Given the description of an element on the screen output the (x, y) to click on. 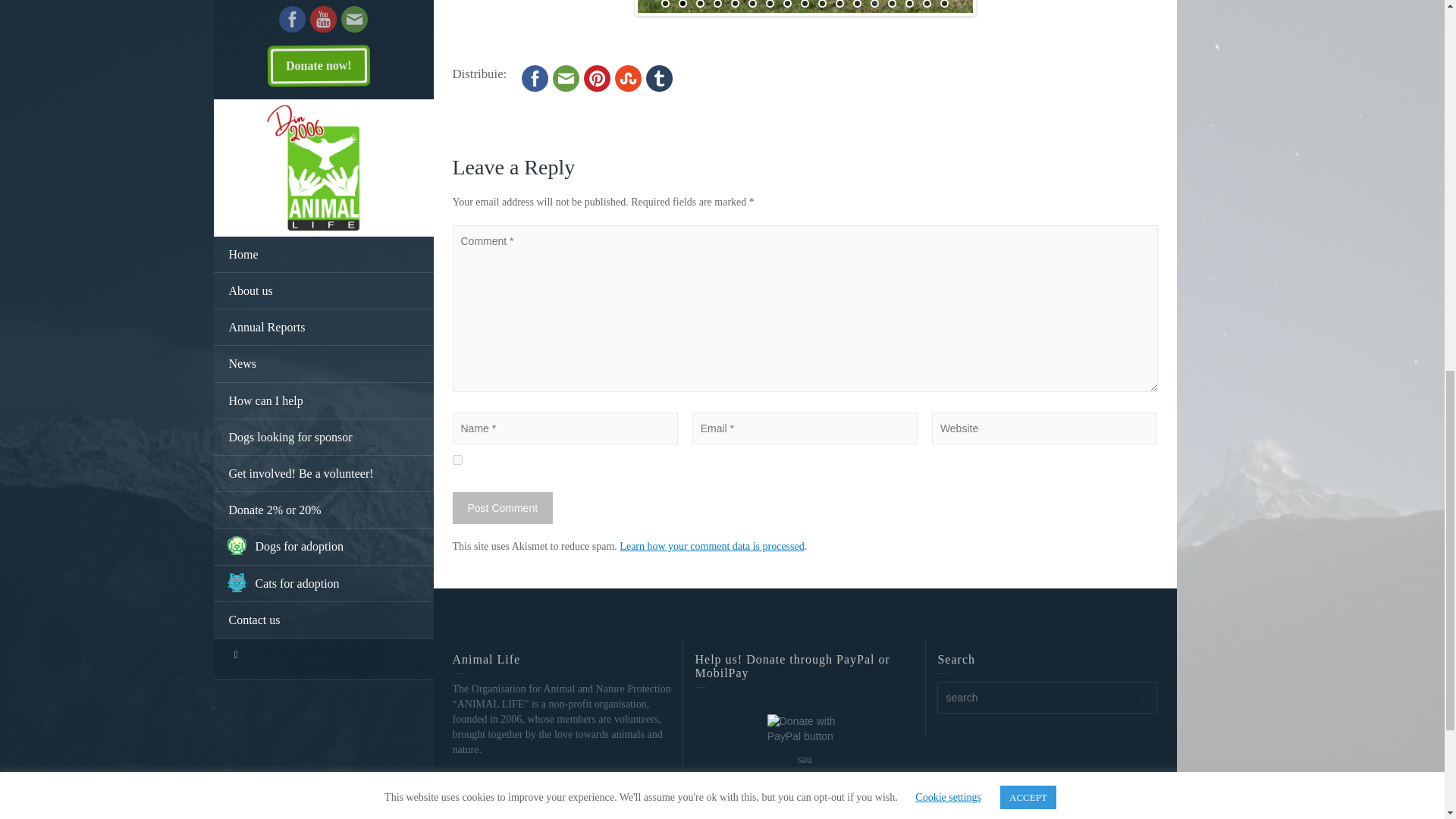
Share via Email (566, 77)
Share via Tumblr (659, 77)
Post Comment (502, 508)
Share via StumbleUpon (628, 77)
yes (456, 460)
Share via Facebook (534, 77)
Share via Pinterest (596, 77)
